Given the description of an element on the screen output the (x, y) to click on. 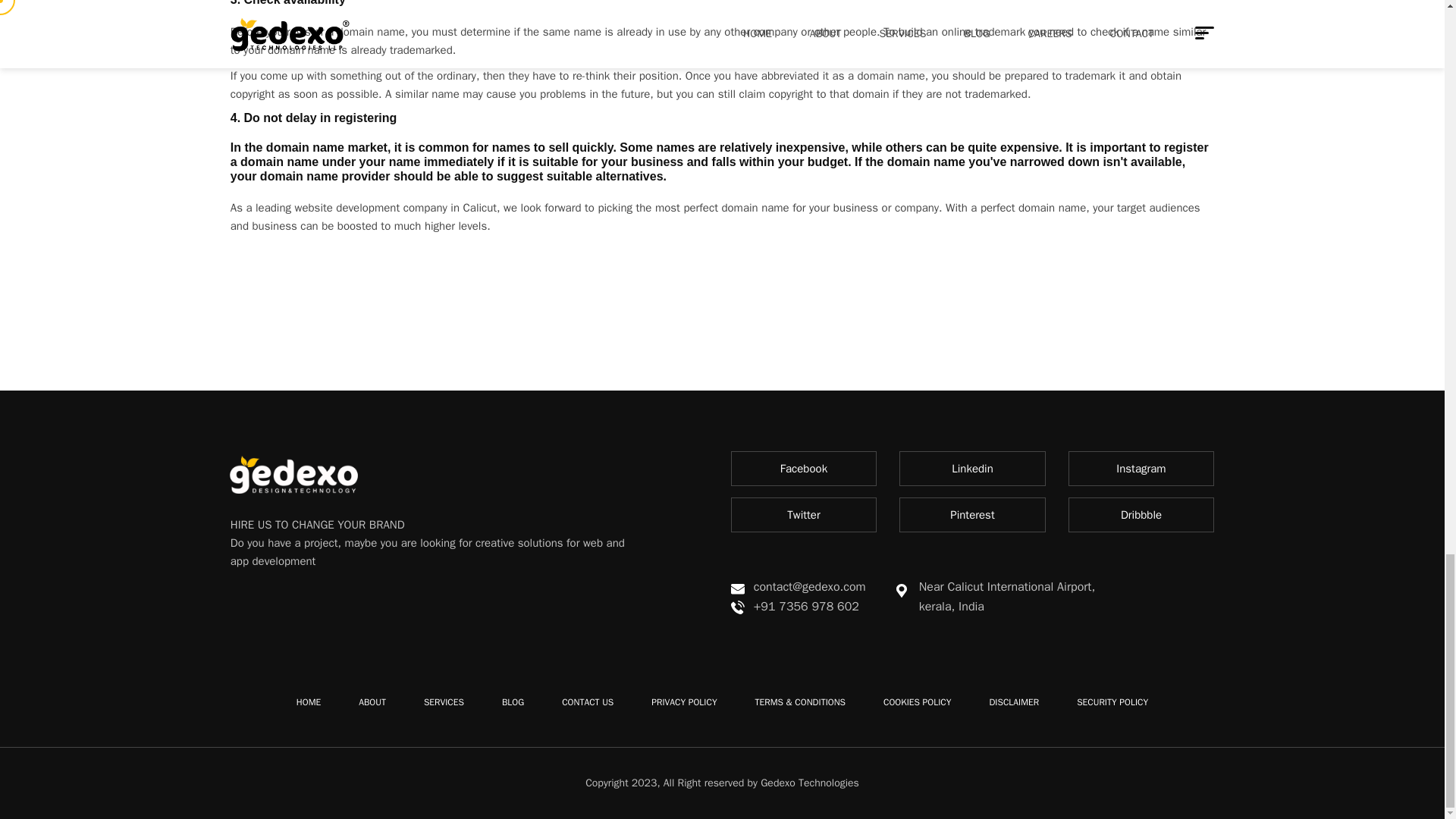
HOME (308, 702)
SECURITY POLICY (1112, 702)
Pinterest (972, 514)
Linkedin (972, 468)
Twitter (803, 514)
Dribbble (1141, 514)
Instagram (1141, 468)
Facebook (803, 468)
CONTACT US (587, 702)
DISCLAIMER (1013, 702)
SERVICES (443, 702)
PRIVACY POLICY (683, 702)
ABOUT (371, 702)
COOKIES POLICY (916, 702)
BLOG (513, 702)
